Given the description of an element on the screen output the (x, y) to click on. 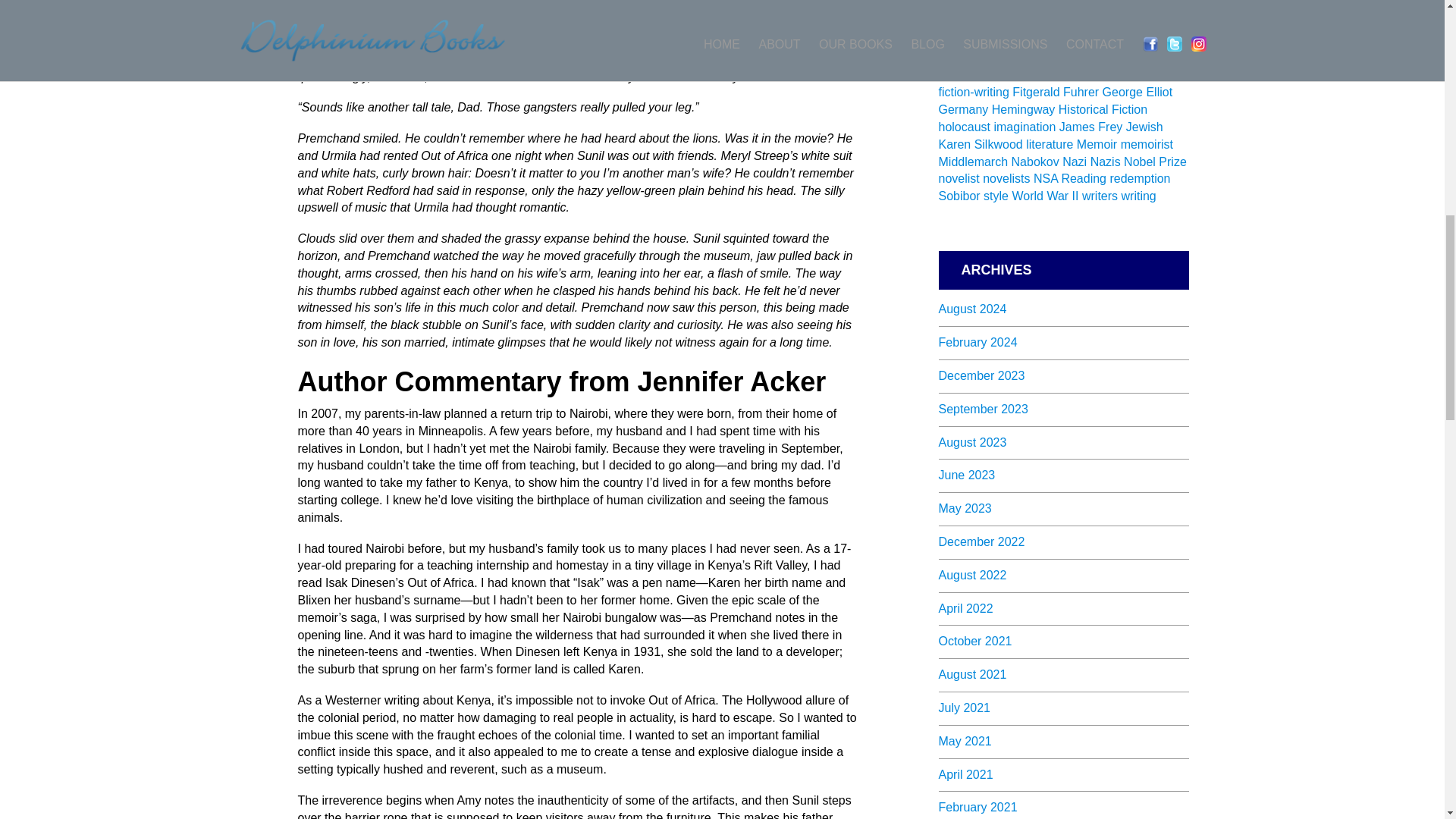
demotic (1085, 57)
fame (1124, 74)
autobiographical (983, 40)
dysfunctional (974, 74)
Dostoyevsky (1143, 57)
Edward Snowden (1058, 74)
artists (1093, 22)
acceptance speech (1021, 22)
fiction (1157, 74)
celebrity (1037, 57)
